Given the description of an element on the screen output the (x, y) to click on. 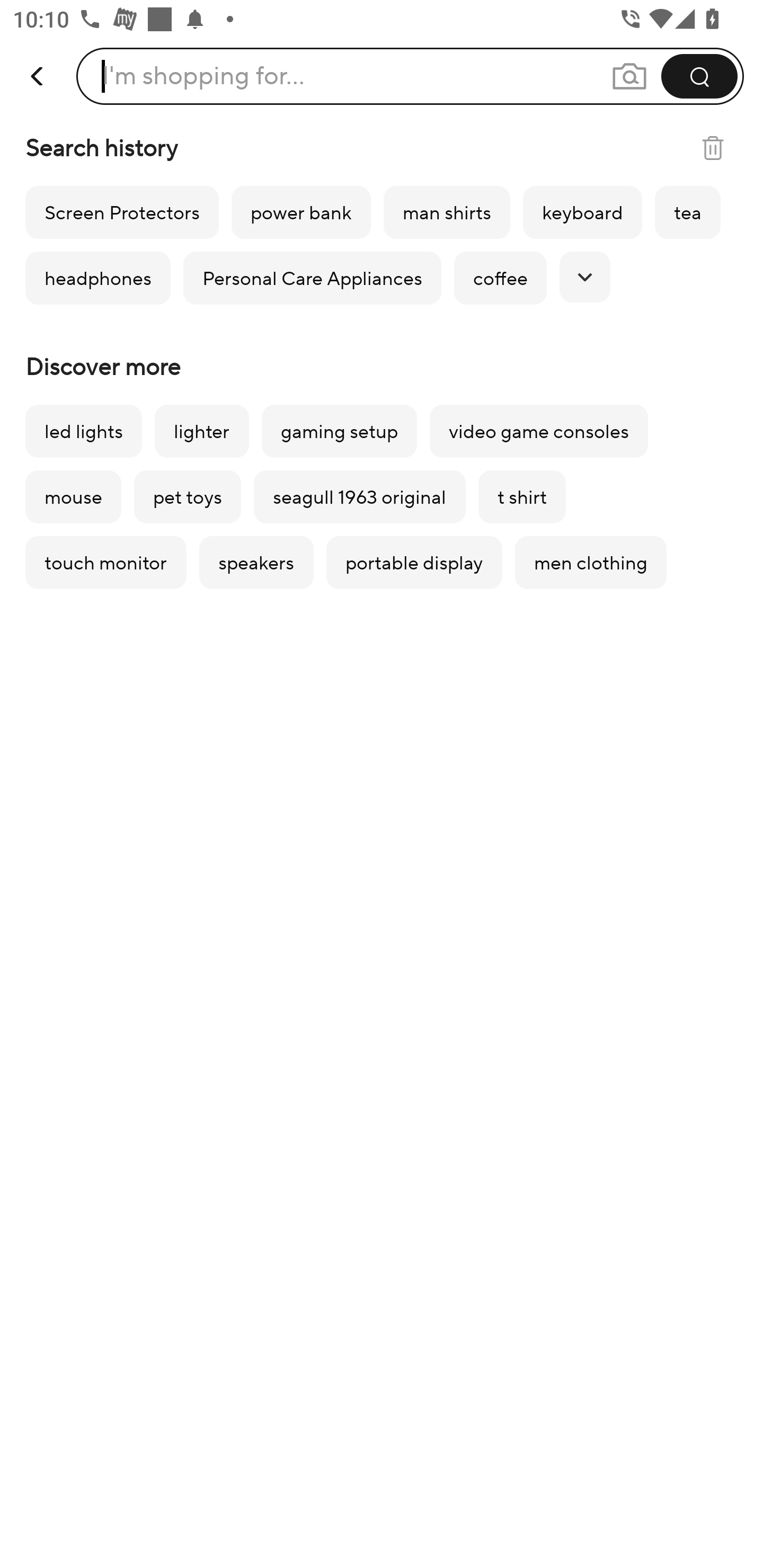
I'm shopping for… (409, 76)
I'm shopping for… (203, 76)
Screen Protectors (121, 212)
power bank (300, 212)
man shirts (446, 212)
keyboard (582, 212)
tea (687, 212)
headphones (97, 277)
Personal Care Appliances (312, 277)
coffee (500, 277)
led lights (83, 430)
lighter (201, 430)
gaming setup (339, 430)
video game consoles (538, 430)
mouse (73, 496)
pet toys (187, 496)
seagull 1963 original (359, 496)
t shirt (522, 496)
touch monitor (105, 562)
speakers (256, 562)
portable display (414, 562)
men clothing (590, 562)
